Given the description of an element on the screen output the (x, y) to click on. 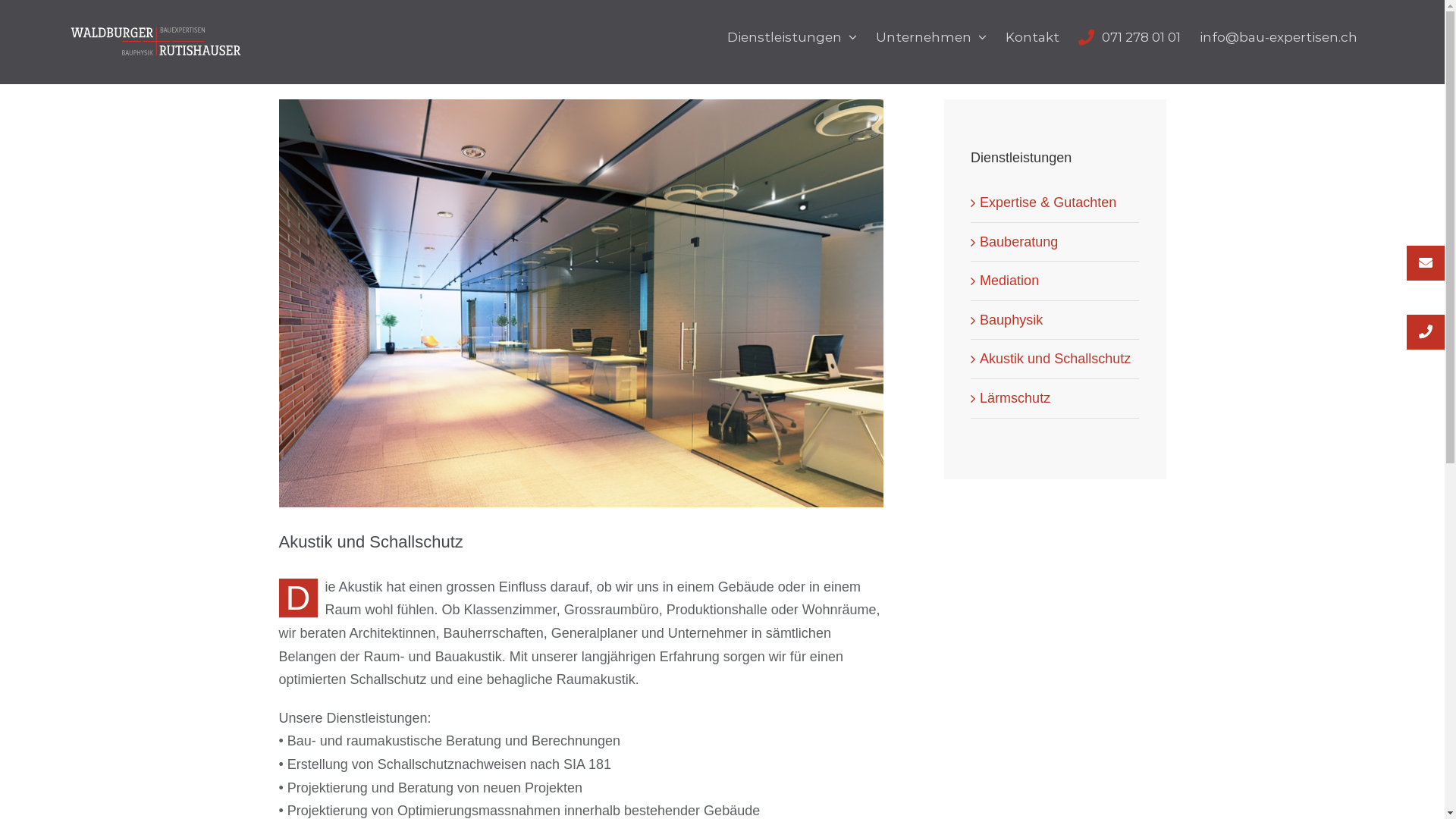
info@bau-expertisen.ch Element type: text (1278, 36)
Kontakt Element type: text (1032, 36)
Dienstleistungen Element type: text (791, 36)
071 278 01 01 Element type: text (1129, 36)
Unternehmen Element type: text (930, 36)
Mediation Element type: text (1008, 280)
Expertise & Gutachten Element type: text (1047, 202)
Akustik und Schallschutz Element type: text (1054, 358)
Bauphysik Element type: text (1010, 319)
View Larger Image Element type: text (581, 303)
Bauberatung Element type: text (1018, 241)
